Given the description of an element on the screen output the (x, y) to click on. 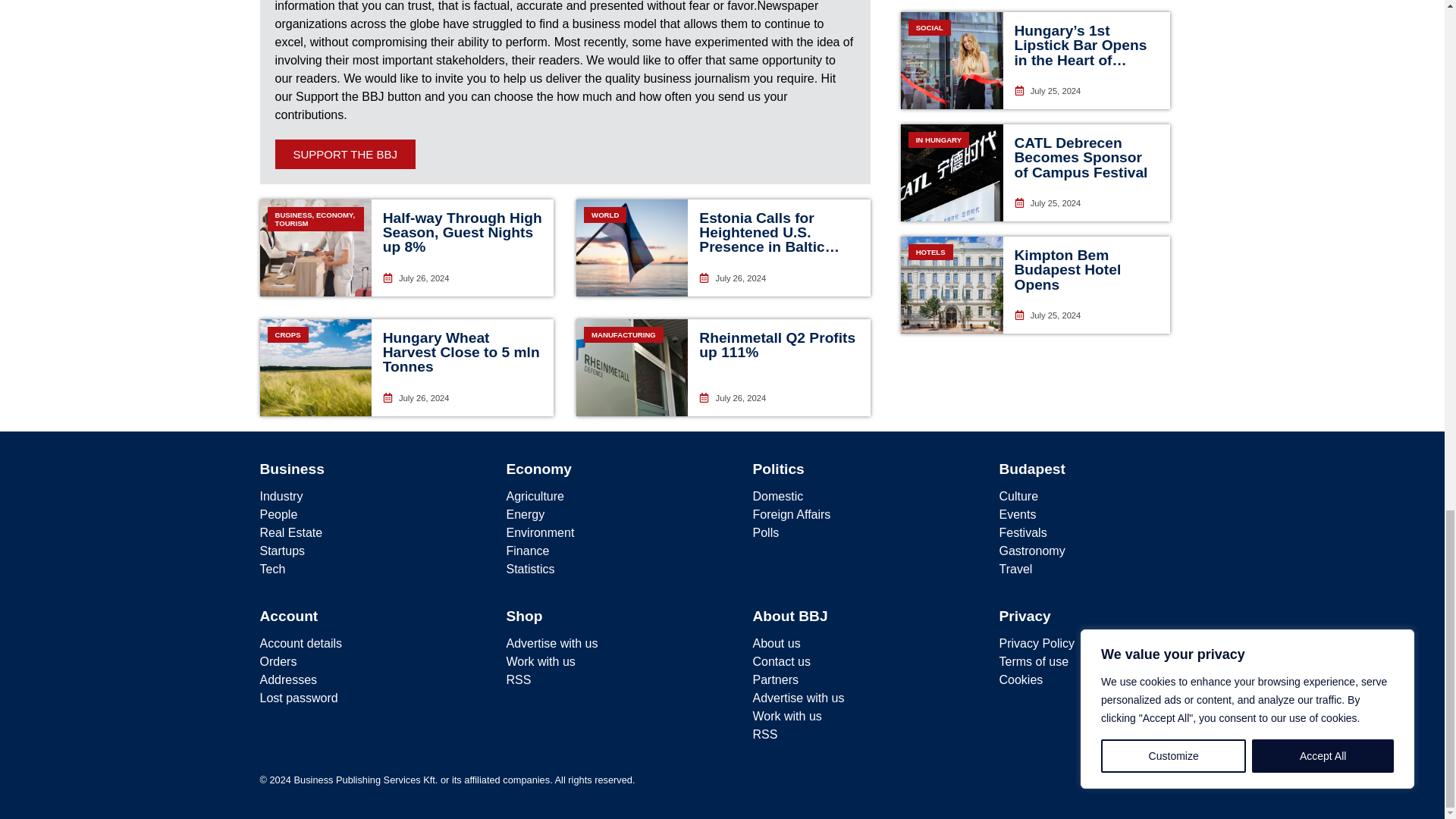
Hungary Wheat Harvest Close to 5 mln Tonnes (461, 352)
CROPS (315, 367)
MANUFACTURING (631, 367)
WORLD (631, 247)
BUSINESS, ECONOMY, TOURISM (315, 247)
SUPPORT THE BBJ (344, 153)
